Given the description of an element on the screen output the (x, y) to click on. 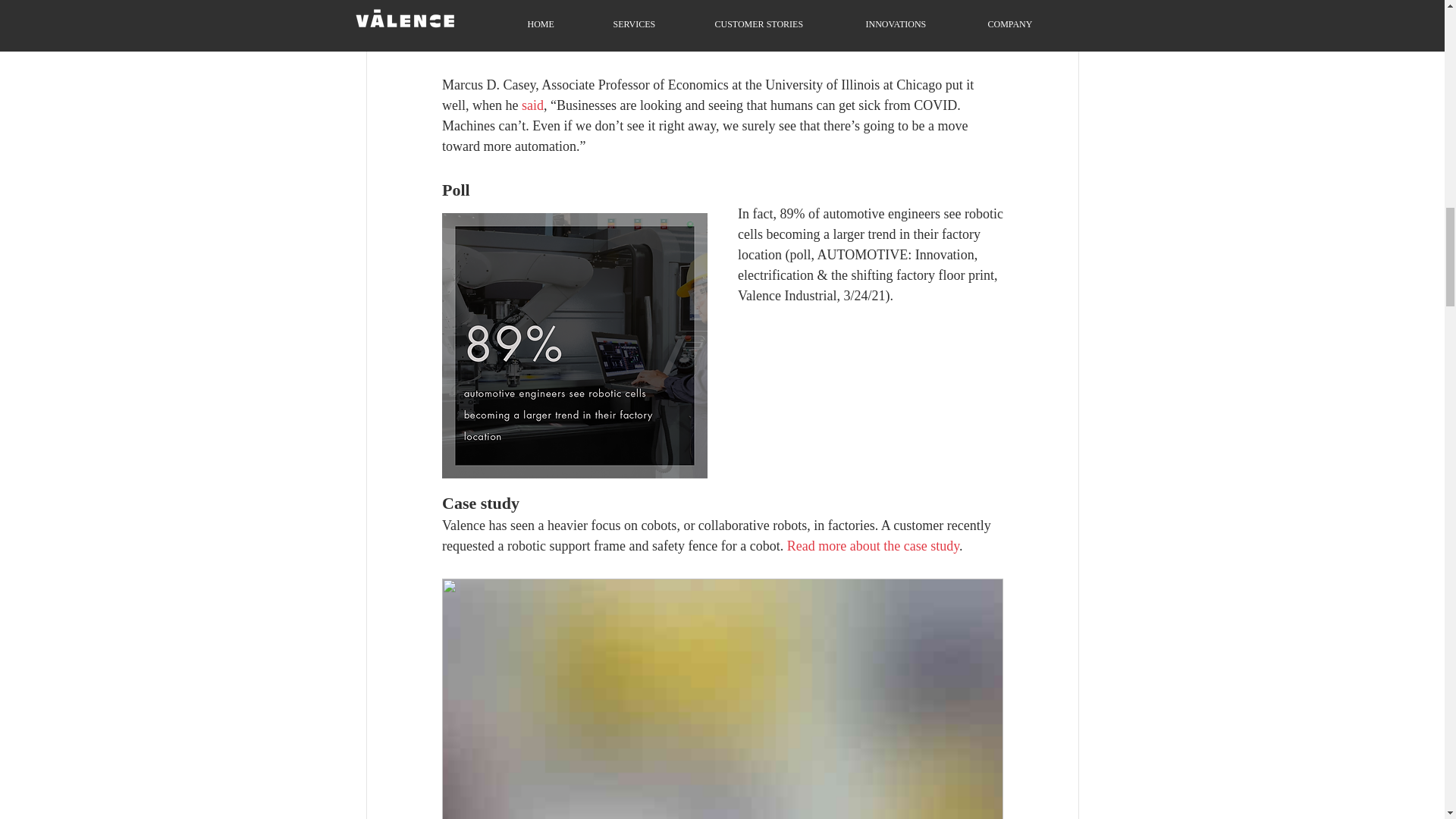
said (532, 105)
Read more about the case study (872, 545)
